Given the description of an element on the screen output the (x, y) to click on. 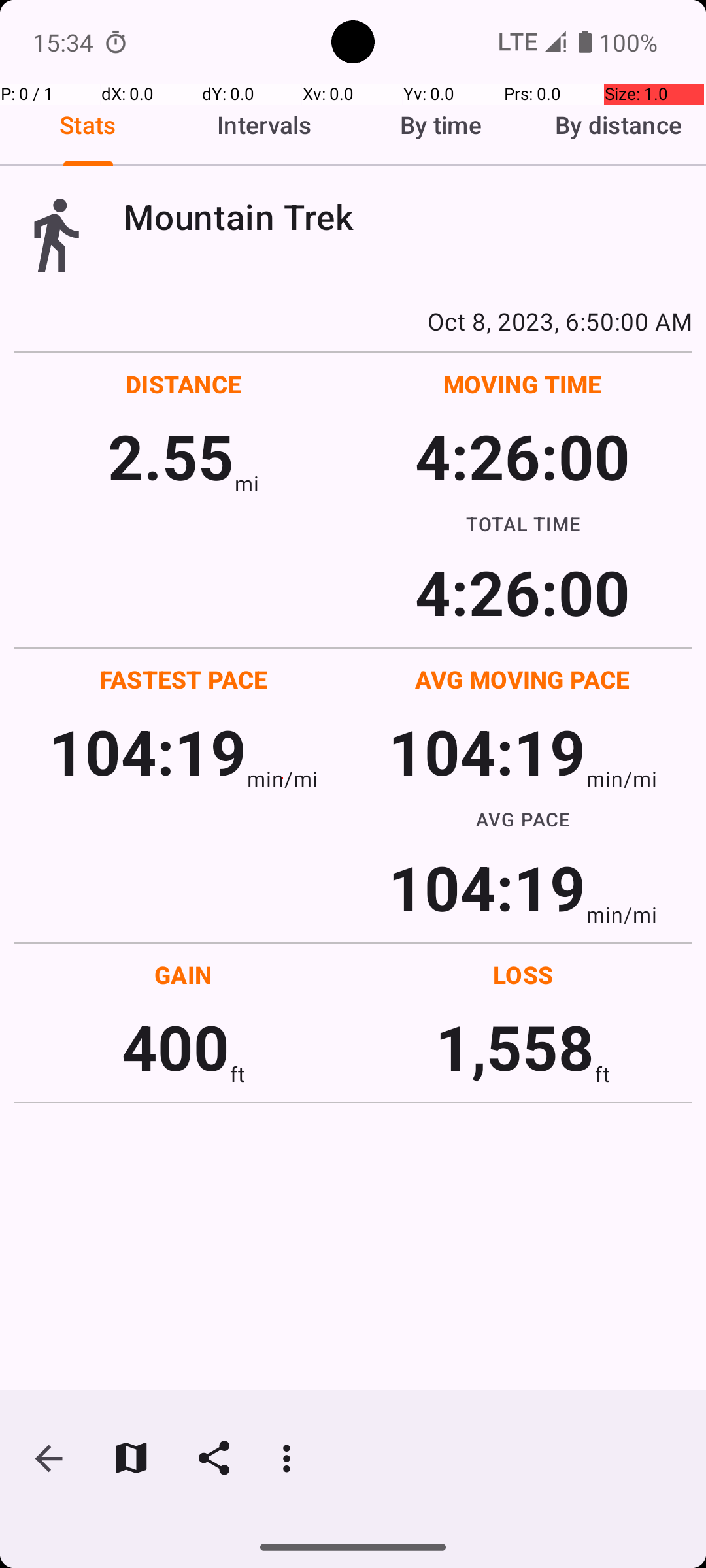
Mountain Trek Element type: android.widget.TextView (407, 216)
Oct 8, 2023, 6:50:00 AM Element type: android.widget.TextView (352, 320)
2.55 Element type: android.widget.TextView (170, 455)
4:26:00 Element type: android.widget.TextView (522, 455)
104:19 Element type: android.widget.TextView (147, 750)
400 Element type: android.widget.TextView (175, 1045)
1,558 Element type: android.widget.TextView (514, 1045)
